Given the description of an element on the screen output the (x, y) to click on. 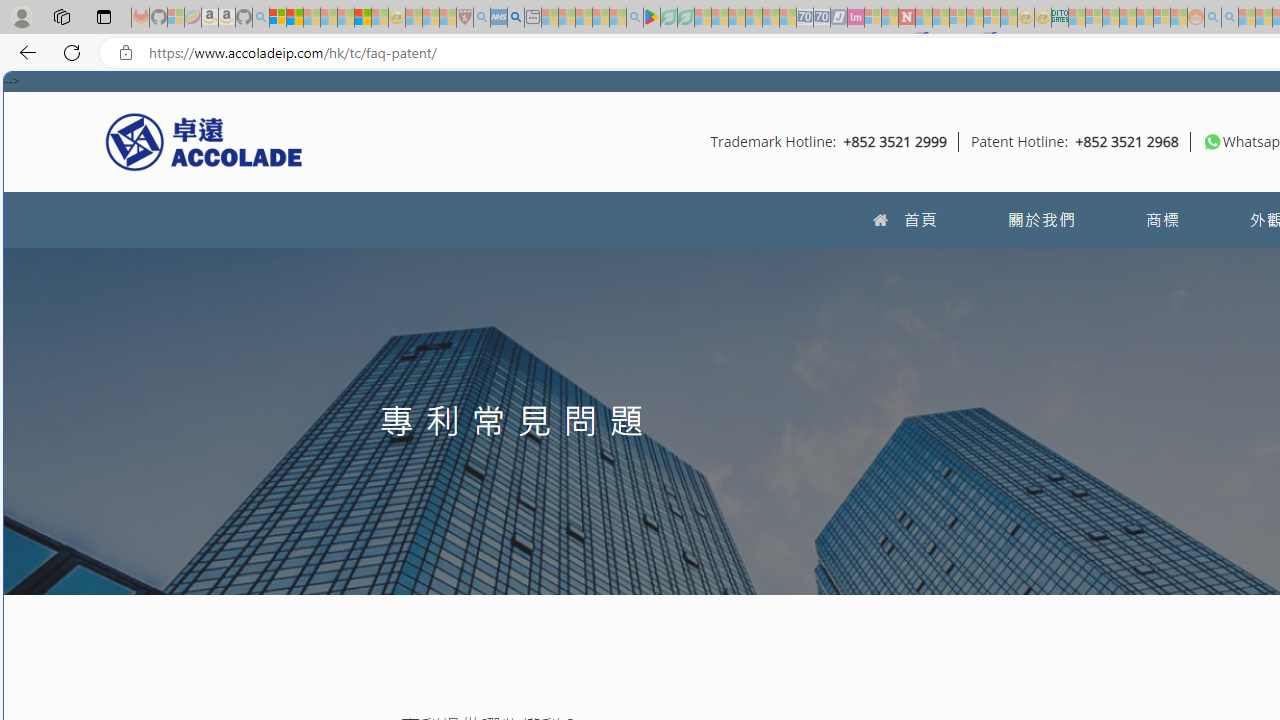
Latest Politics News & Archive | Newsweek.com - Sleeping (906, 17)
Jobs - lastminute.com Investor Portal - Sleeping (855, 17)
